Given the description of an element on the screen output the (x, y) to click on. 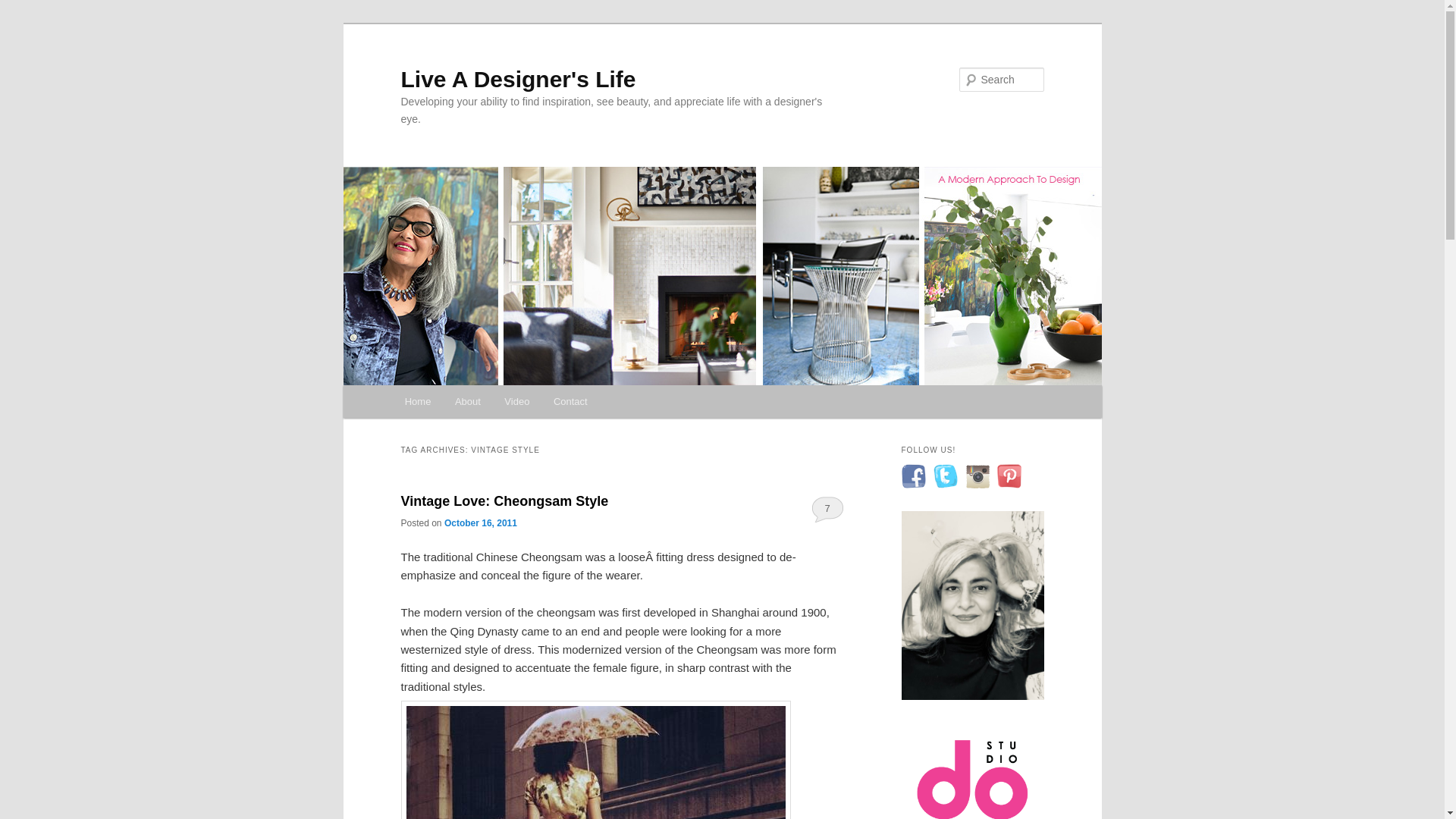
Follow Us on Facebook (912, 476)
Follow Us on Instagram (975, 476)
Search (24, 8)
Live A Designer's Life (517, 78)
Vintage Love: Cheongsam Style (504, 500)
About (467, 400)
October 16, 2011 (480, 522)
Follow Us on Pinterest (1007, 476)
Follow Us on Twitter (944, 476)
